Given the description of an element on the screen output the (x, y) to click on. 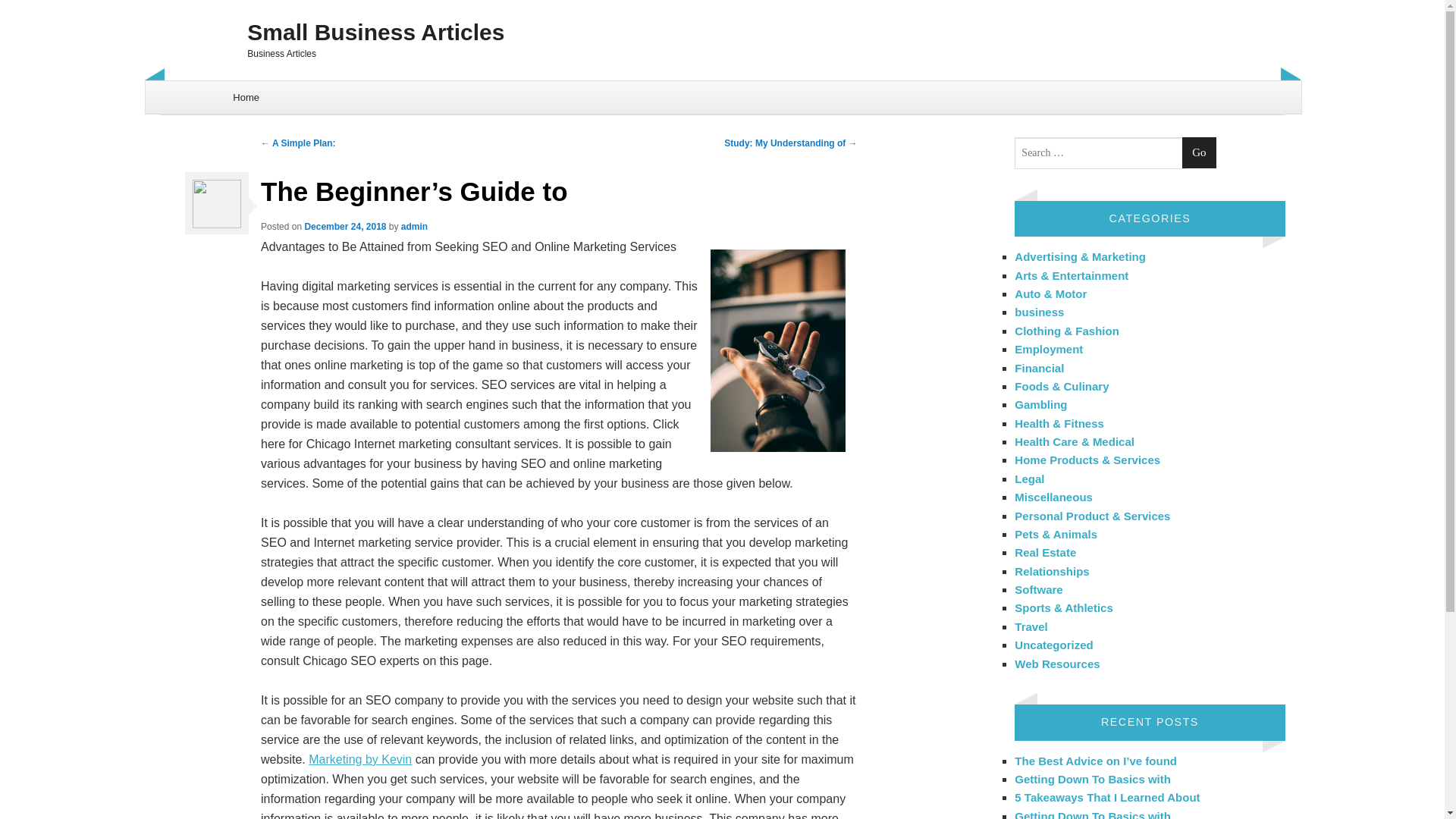
Software (1038, 589)
6:41 am (344, 226)
Relationships (1051, 571)
Small Business Articles (721, 31)
December 24, 2018 (344, 226)
Legal (1028, 478)
Gambling (1040, 404)
business (1039, 311)
Travel (1030, 626)
Marketing by Kevin (360, 758)
